Given the description of an element on the screen output the (x, y) to click on. 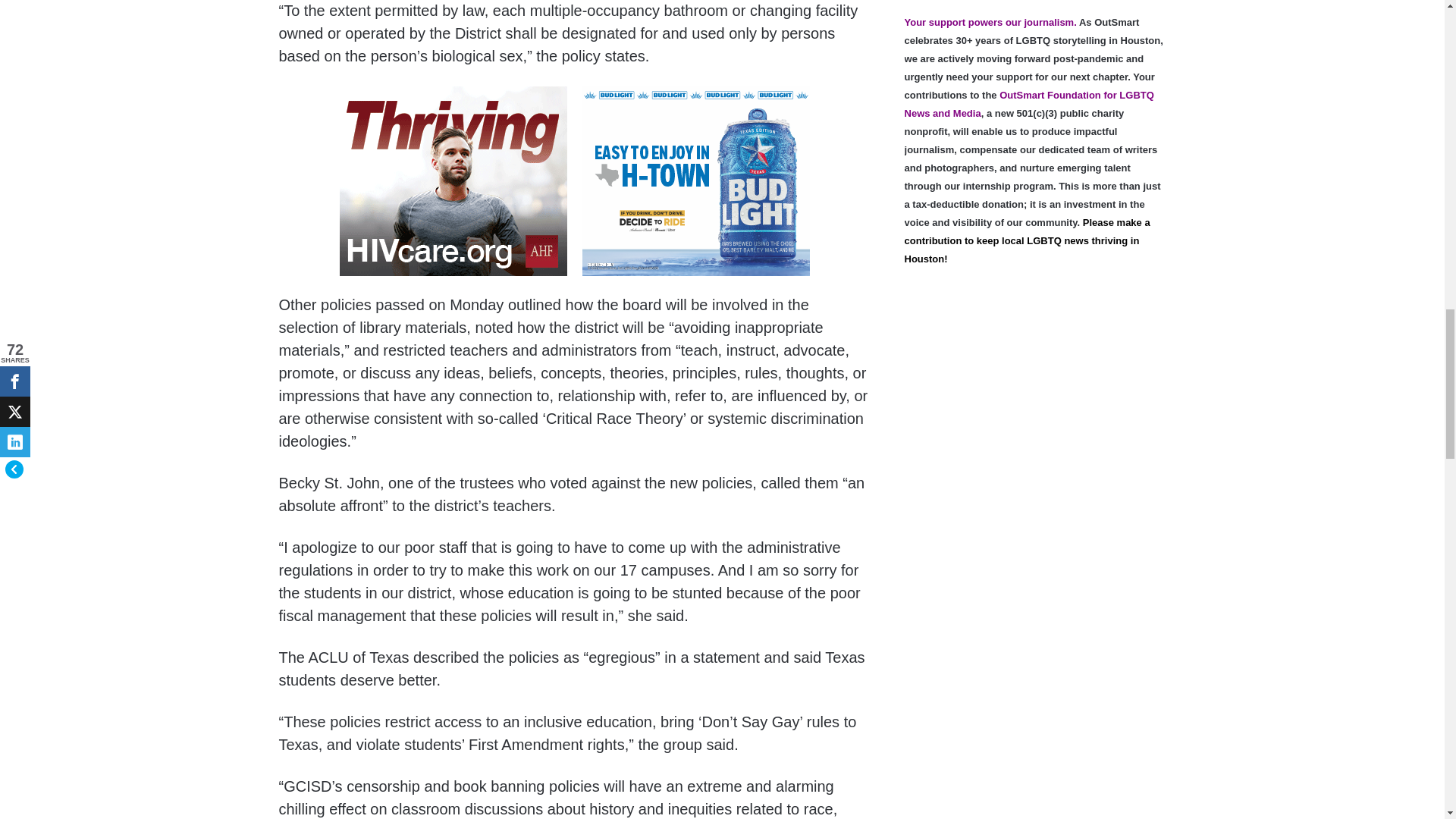
AIDS Healthcare Foundation Sept-July 24 300x250 (453, 183)
Silver Eagle July 24 (695, 183)
